Given the description of an element on the screen output the (x, y) to click on. 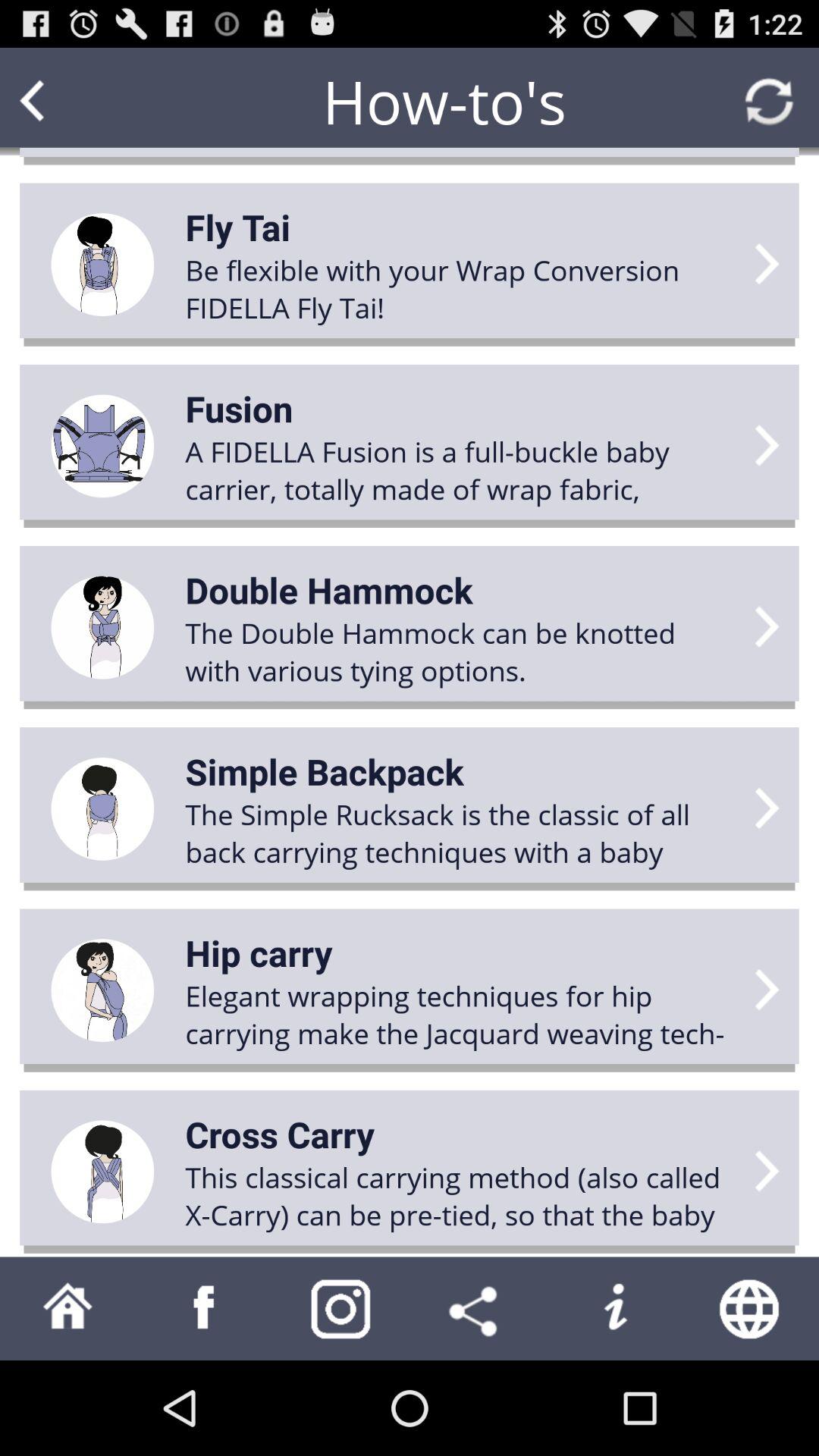
open item below the double hammock app (324, 771)
